Given the description of an element on the screen output the (x, y) to click on. 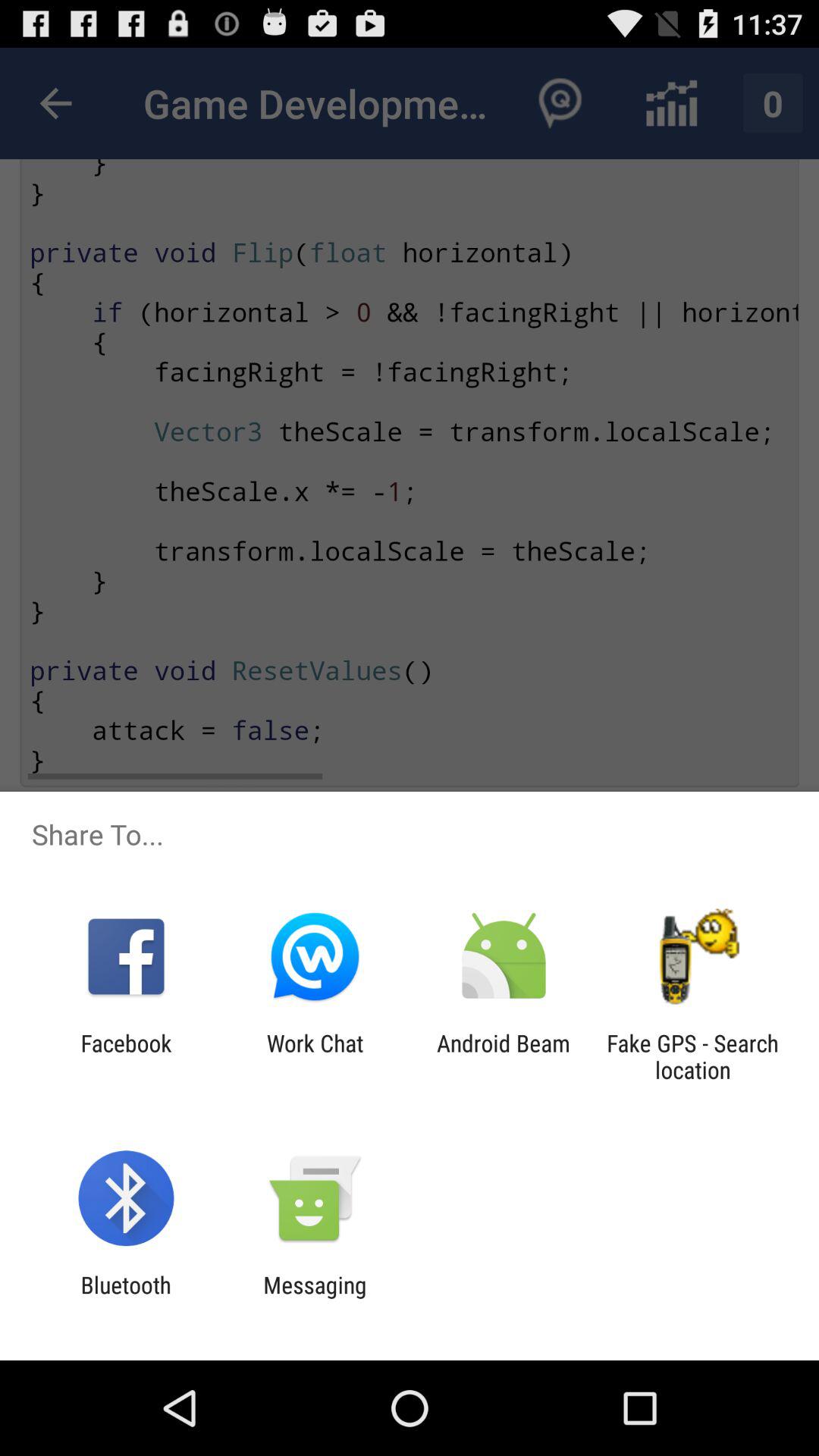
jump until fake gps search item (692, 1056)
